Given the description of an element on the screen output the (x, y) to click on. 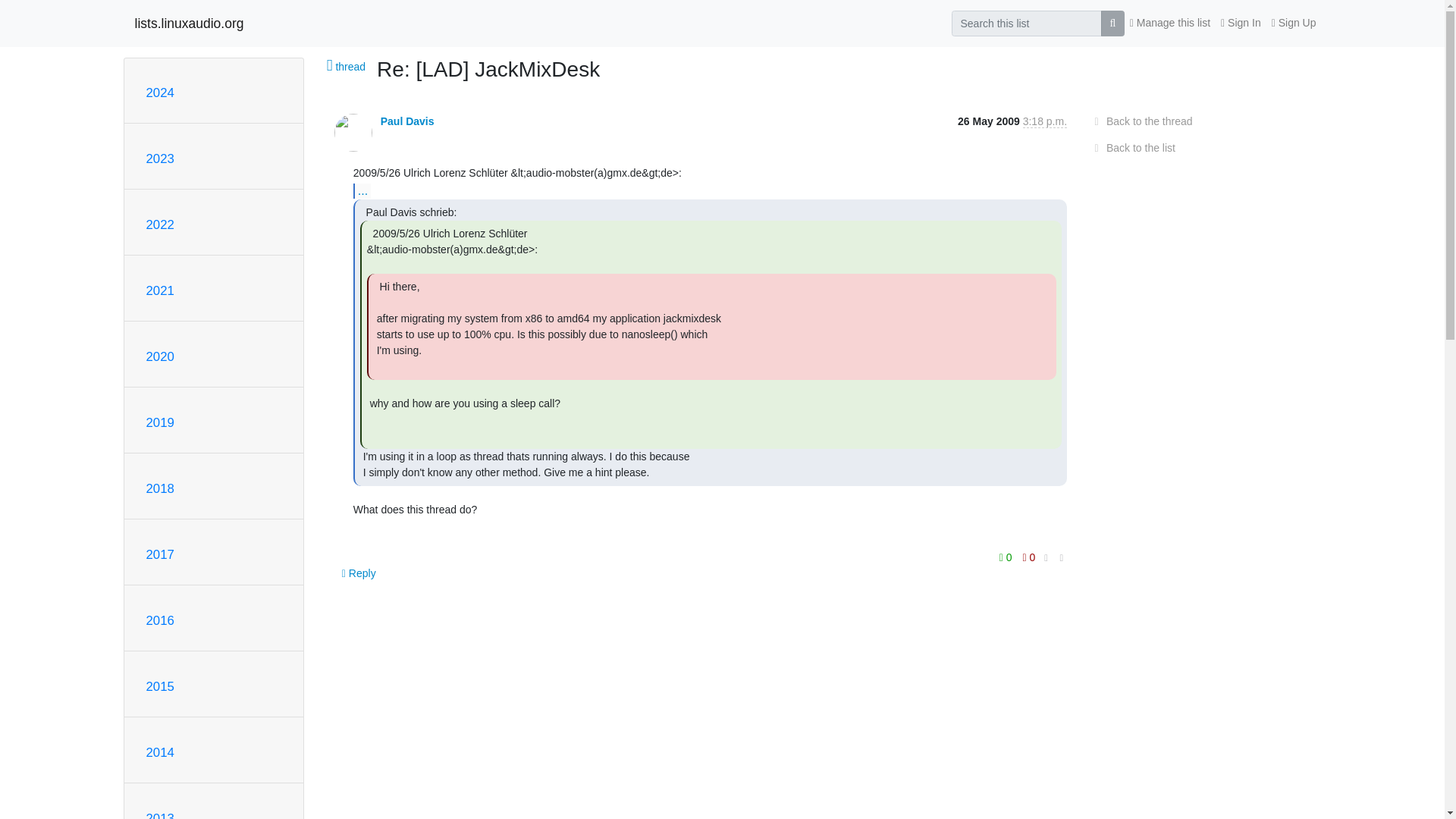
You must be logged-in to vote. (1007, 557)
You must be logged-in to vote. (1029, 557)
Sign Up (1294, 22)
Sender's time: May 26, 2009, 3:18 p.m. (1045, 121)
2023 (159, 158)
Sign in to reply online (359, 573)
Manage this list (1169, 22)
2024 (159, 92)
lists.linuxaudio.org (189, 22)
Sign In (1240, 22)
2022 (159, 224)
See the profile for Paul Davis (406, 121)
